Given the description of an element on the screen output the (x, y) to click on. 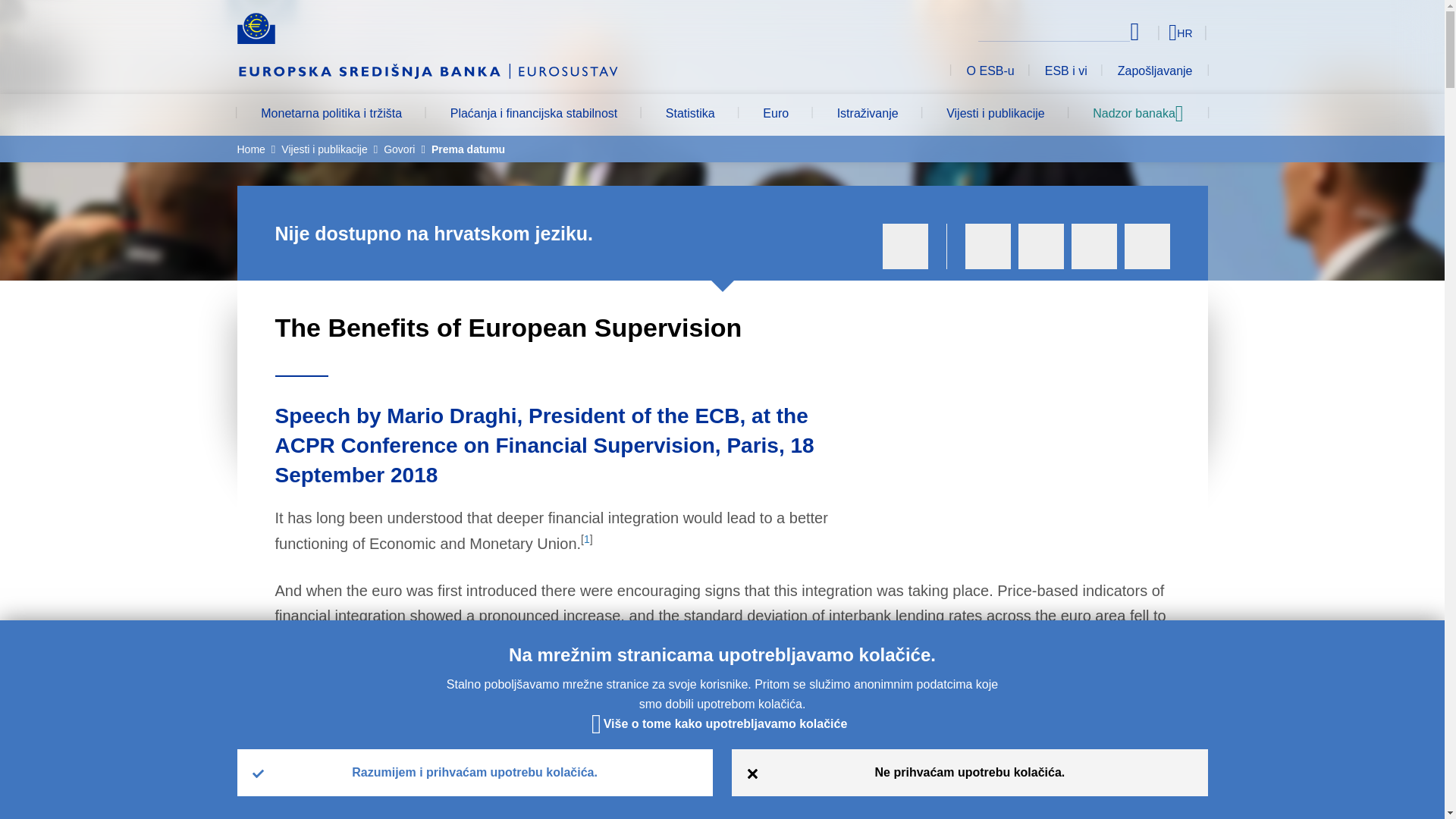
Select language (1153, 32)
